Given the description of an element on the screen output the (x, y) to click on. 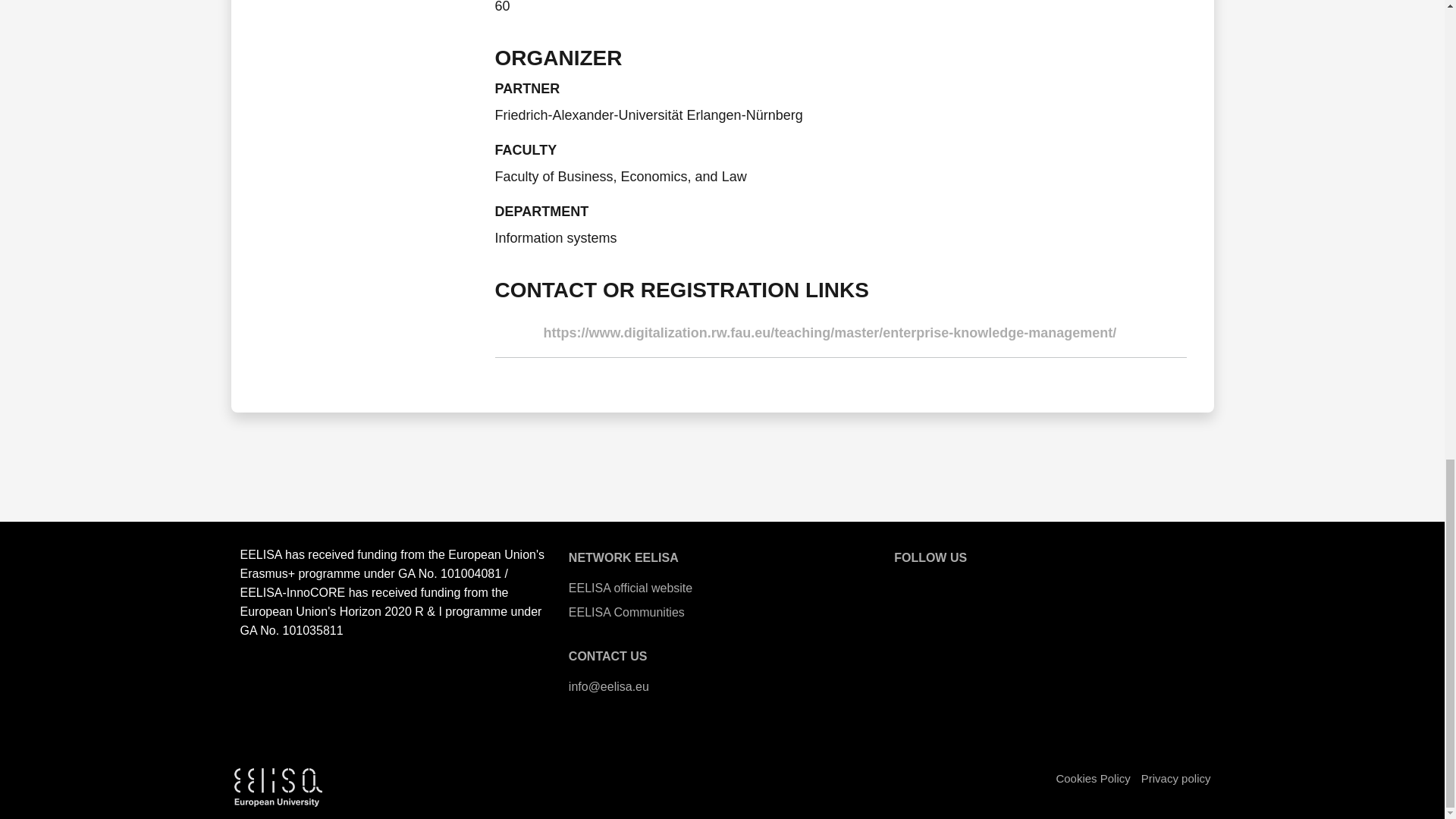
Privacy-Cookies (1176, 778)
link to url: EELISA Communities  (722, 612)
Go to page (623, 557)
CONTACT US (608, 656)
Linkedin (1071, 584)
EELISA Website (908, 584)
FOLLOW US (929, 557)
link to url: EELISA Homepage  (722, 588)
Go to Contacts page (608, 656)
Go to page: Follow us (929, 557)
